Given the description of an element on the screen output the (x, y) to click on. 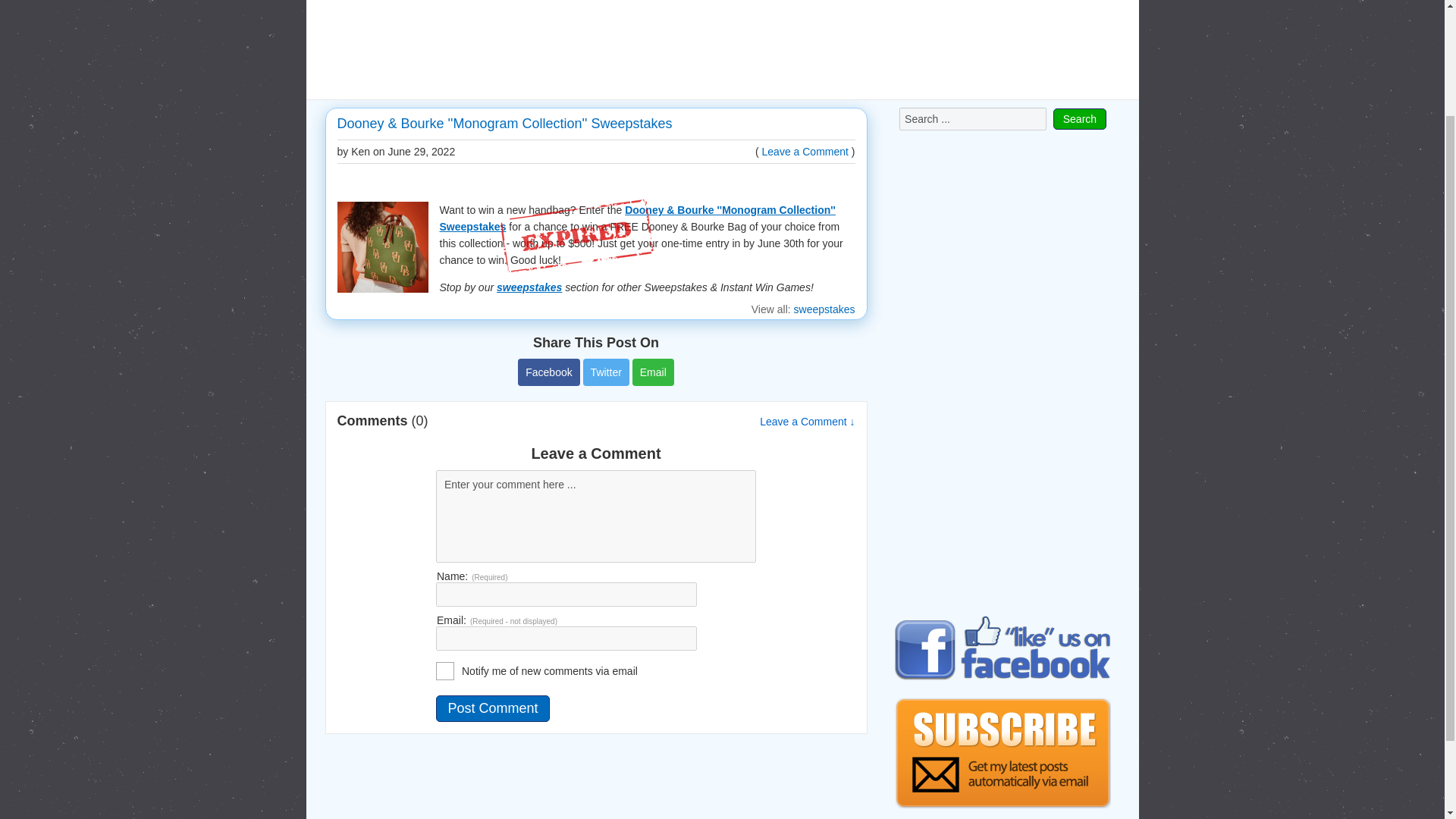
Search ... (972, 118)
Subscribe to our free daily email updates! (1002, 752)
Leave a Comment (804, 151)
Facebook (548, 371)
sweepstakes (824, 309)
Email (652, 371)
Like FreebieRadar on Facebook! (1002, 647)
Search ... (972, 118)
Search (1079, 118)
Advertisement (721, 47)
